Given the description of an element on the screen output the (x, y) to click on. 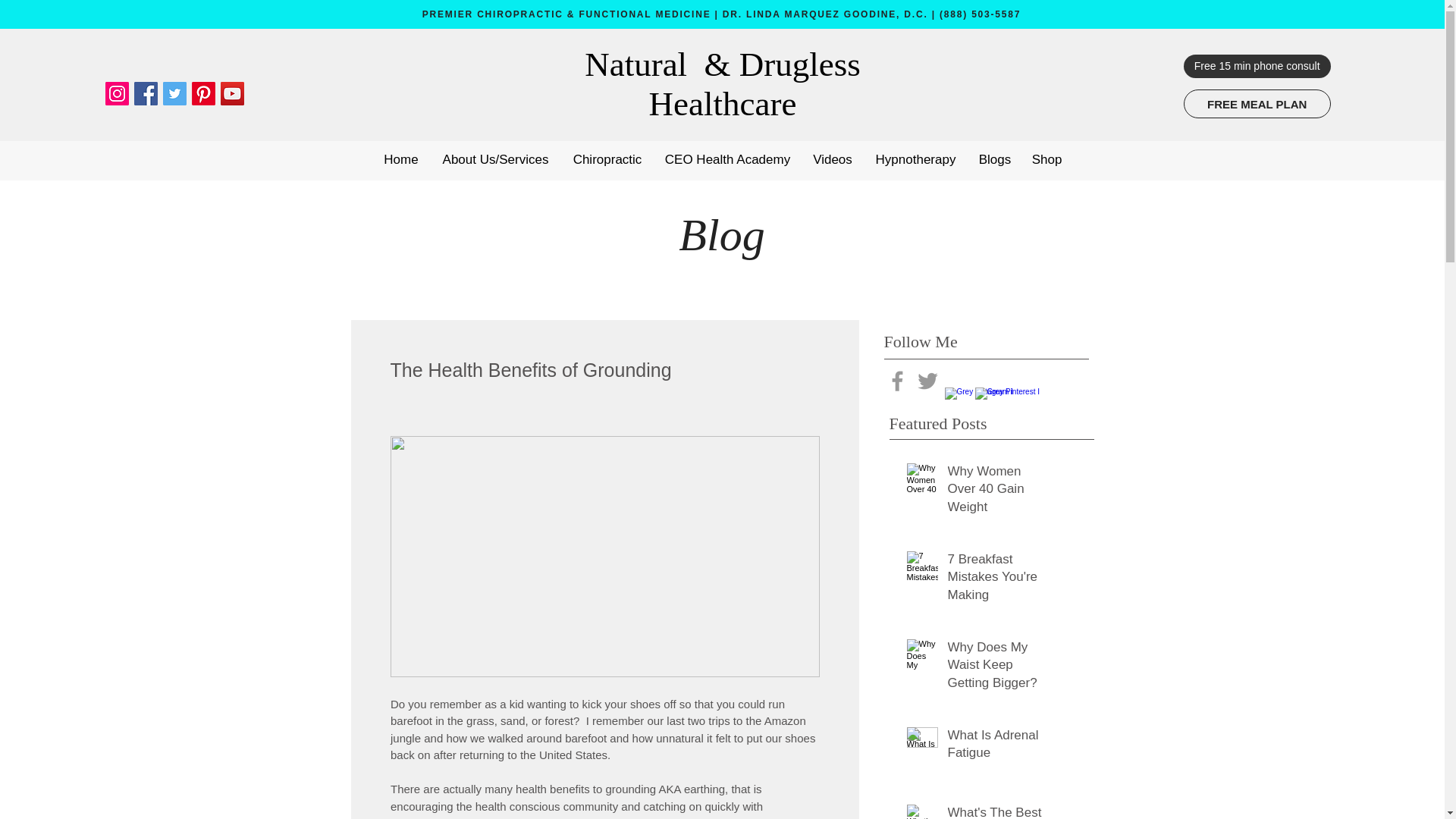
7 Breakfast Mistakes You're Making (996, 580)
What's The Best Sleeping Position (996, 811)
Why Women Over 40 Gain Weight (996, 492)
Home (400, 152)
CEO Health Academy (727, 152)
Videos (832, 152)
FREE MEAL PLAN (1256, 103)
Why Does My Waist Keep Getting Bigger? (996, 668)
What Is Adrenal Fatigue (996, 747)
Hypnotherapy (915, 152)
Shop (1046, 152)
Free 15 min phone consult (1256, 65)
Chiropractic (606, 152)
Blogs (995, 152)
